Given the description of an element on the screen output the (x, y) to click on. 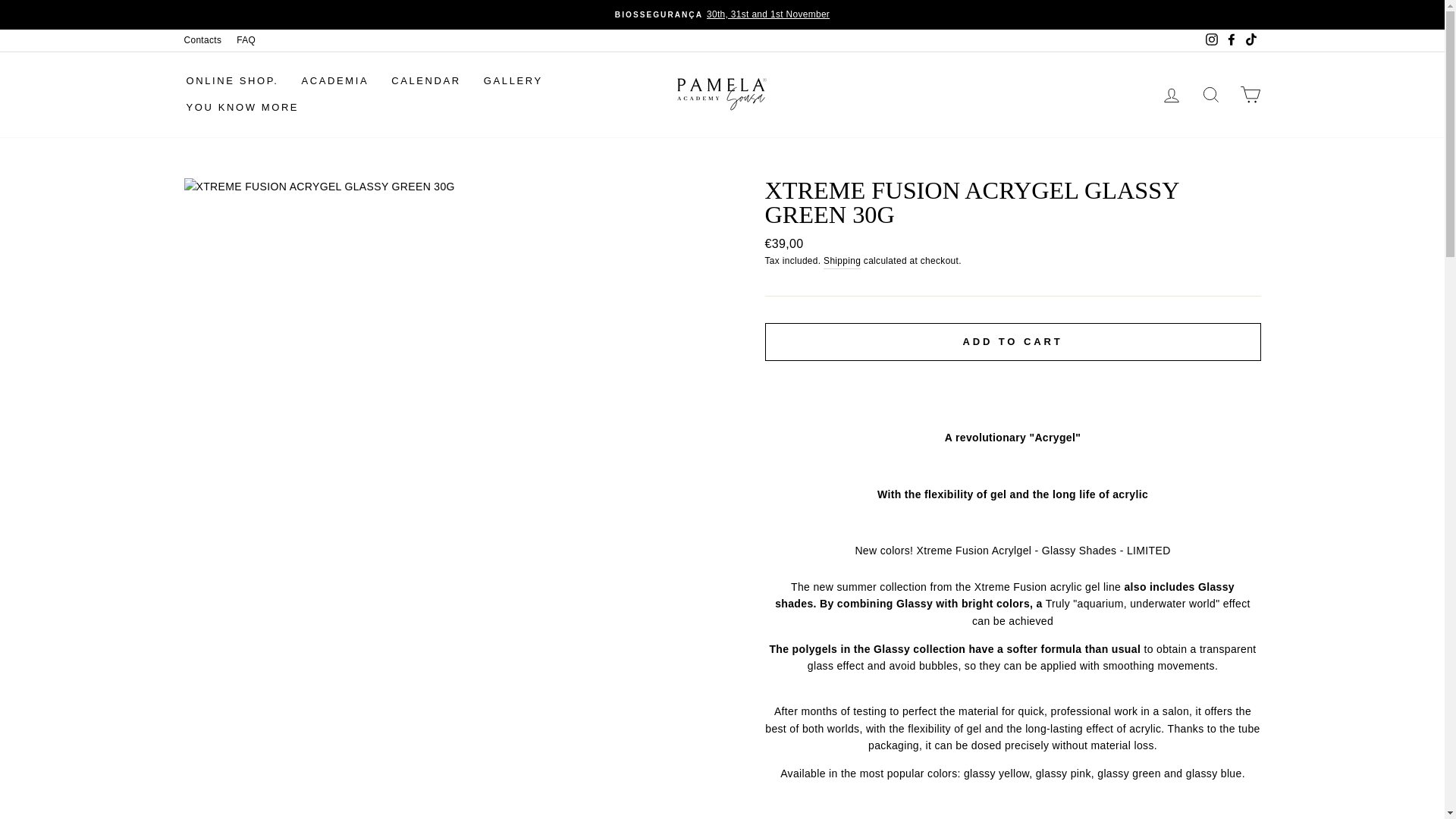
YouTube video player (1012, 806)
Pamela Sousa Academy on Facebook (1230, 40)
Pamela Sousa Academy on TikTok (1250, 40)
Pamela Sousa Academy on Instagram (1211, 40)
